Given the description of an element on the screen output the (x, y) to click on. 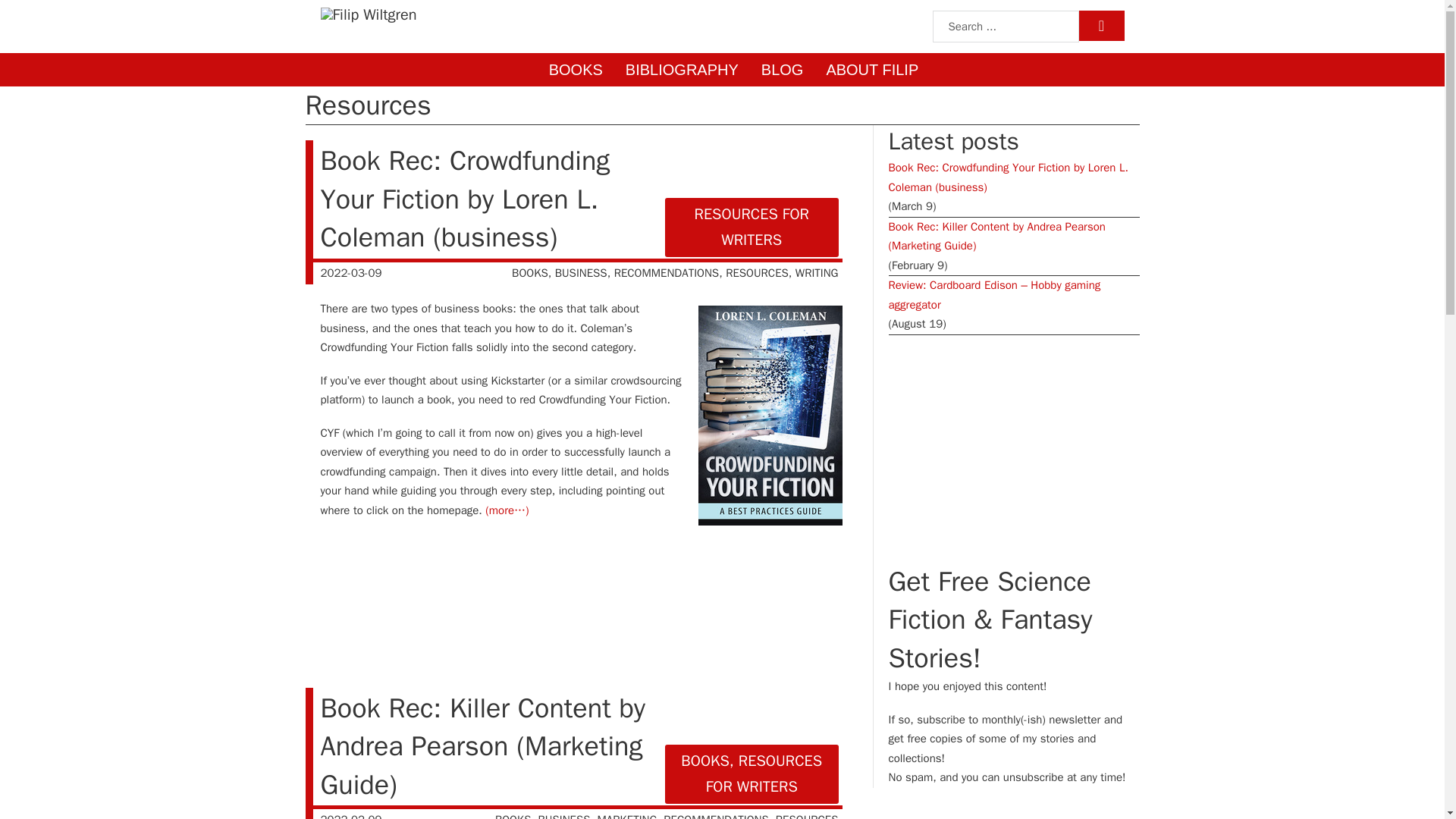
BUSINESS (564, 816)
BOOKS (513, 816)
BIBLIOGRAPHY (682, 69)
RESOURCES FOR WRITERS (764, 773)
BOOKS (575, 69)
RECOMMENDATIONS (666, 273)
RESOURCES FOR WRITERS (751, 226)
BLOG (782, 69)
BUSINESS (580, 273)
BOOKS (530, 273)
